Given the description of an element on the screen output the (x, y) to click on. 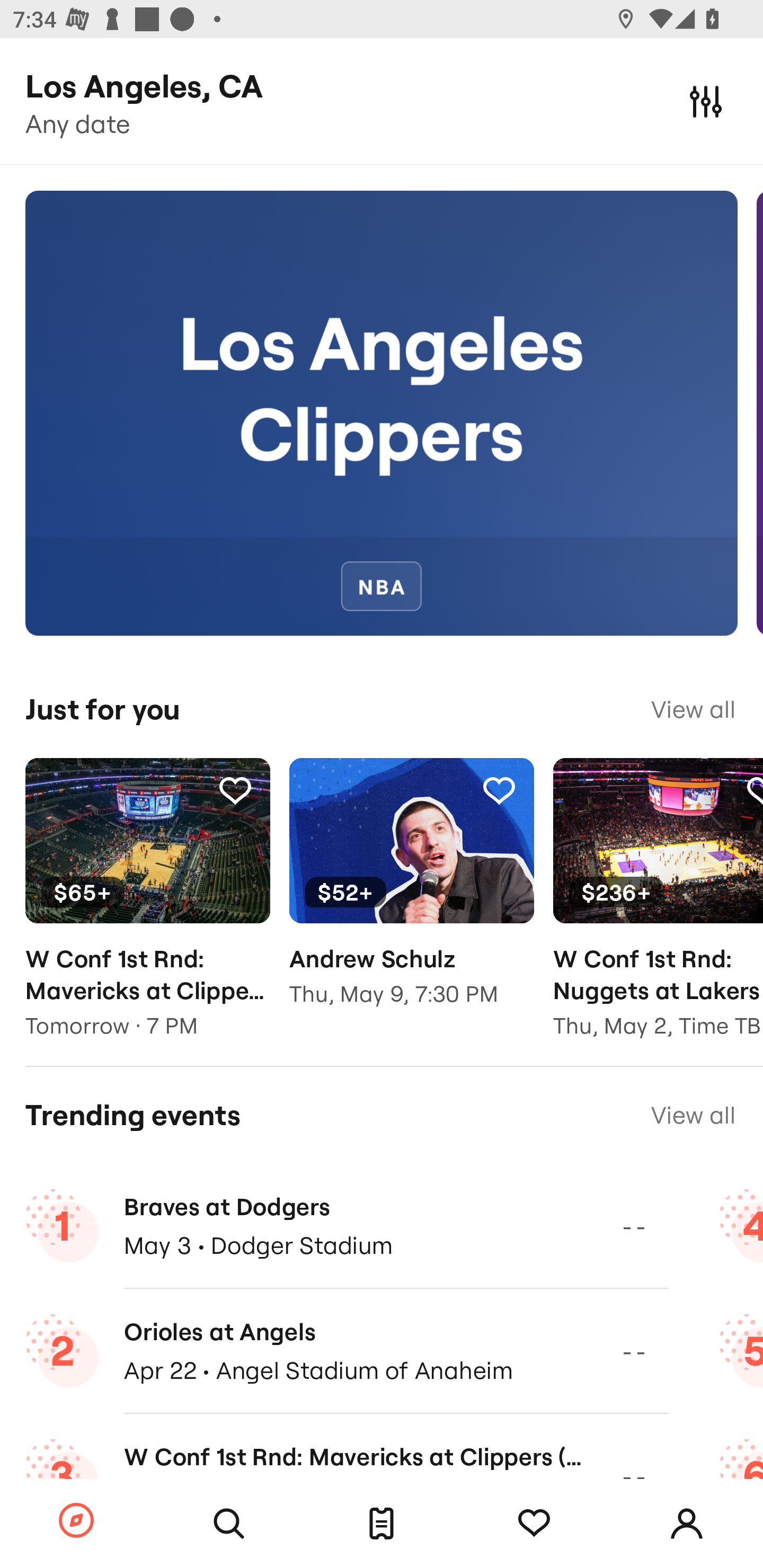
Filters (705, 100)
View all (693, 709)
Tracking $52+ Andrew Schulz Thu, May 9, 7:30 PM (411, 895)
Tracking (234, 790)
Tracking (498, 790)
View all (693, 1114)
Browse (76, 1521)
Search (228, 1523)
Tickets (381, 1523)
Tracking (533, 1523)
Account (686, 1523)
